Given the description of an element on the screen output the (x, y) to click on. 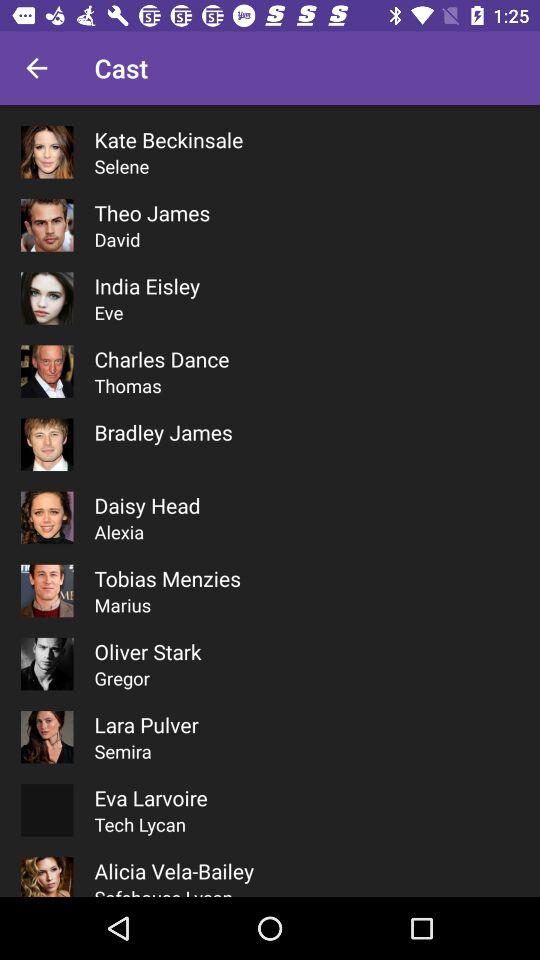
jump until alicia vela-bailey icon (174, 870)
